Given the description of an element on the screen output the (x, y) to click on. 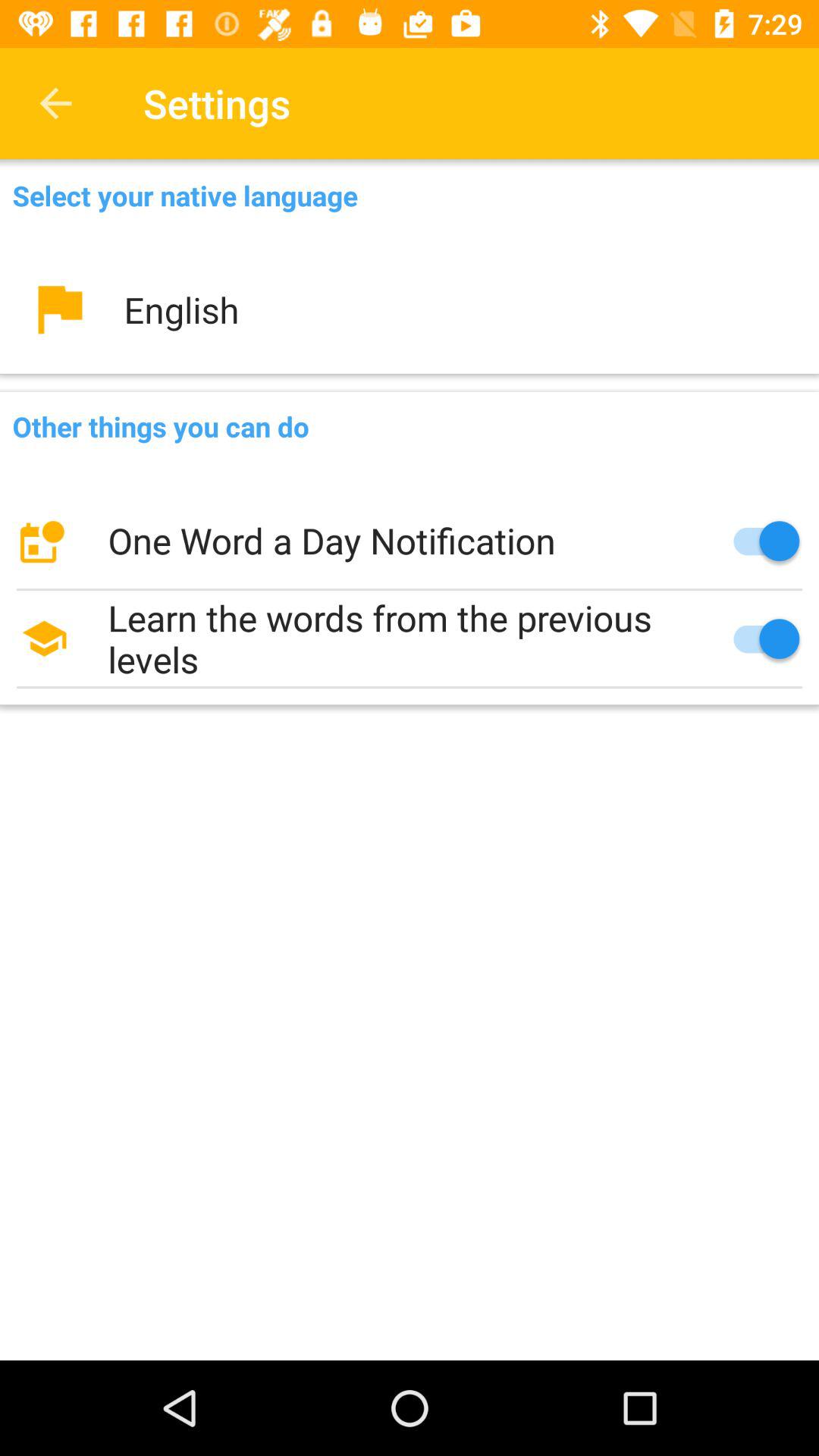
open one word a (409, 540)
